Given the description of an element on the screen output the (x, y) to click on. 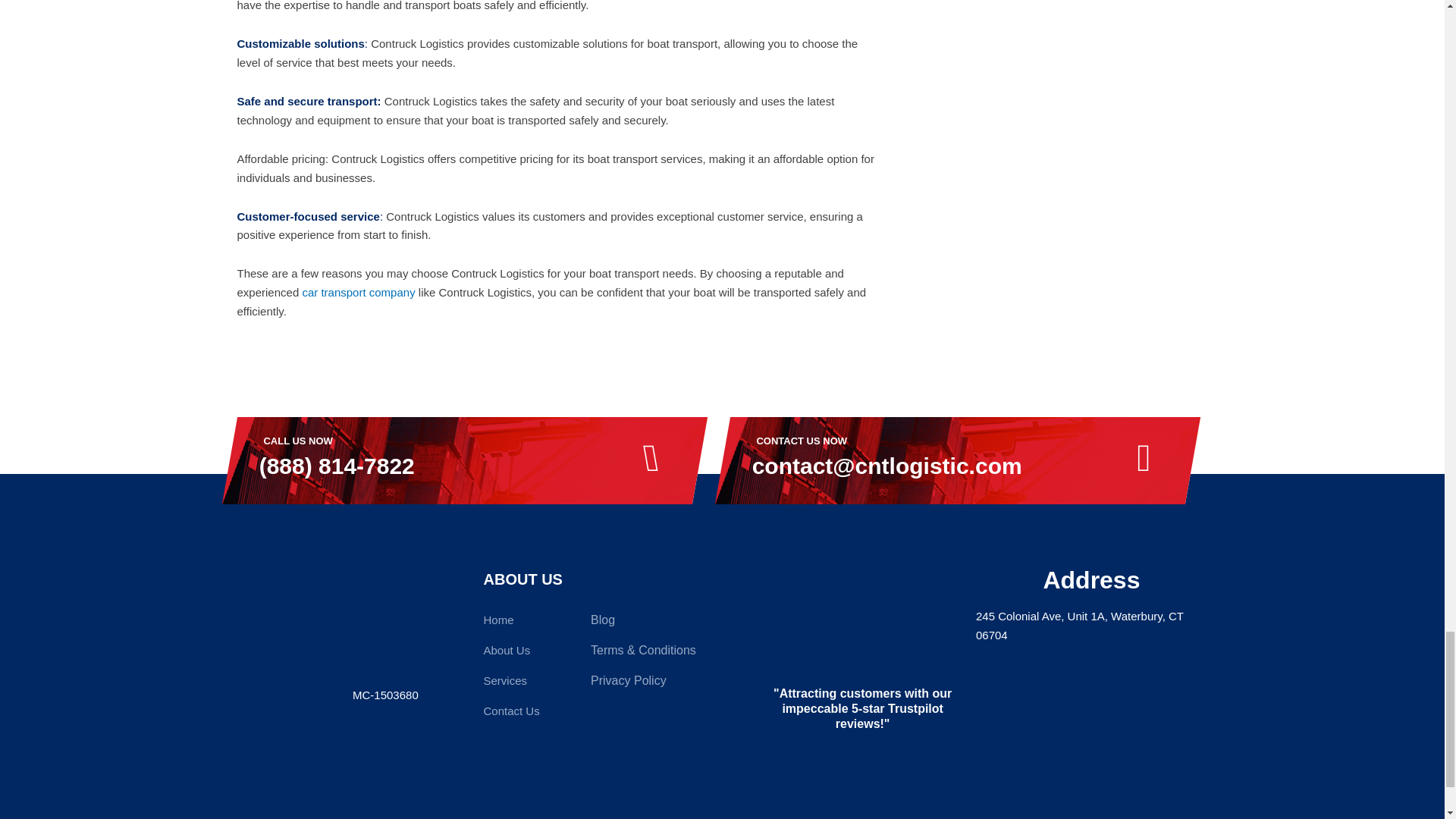
trustpilot (862, 621)
car transport company (357, 291)
